Given the description of an element on the screen output the (x, y) to click on. 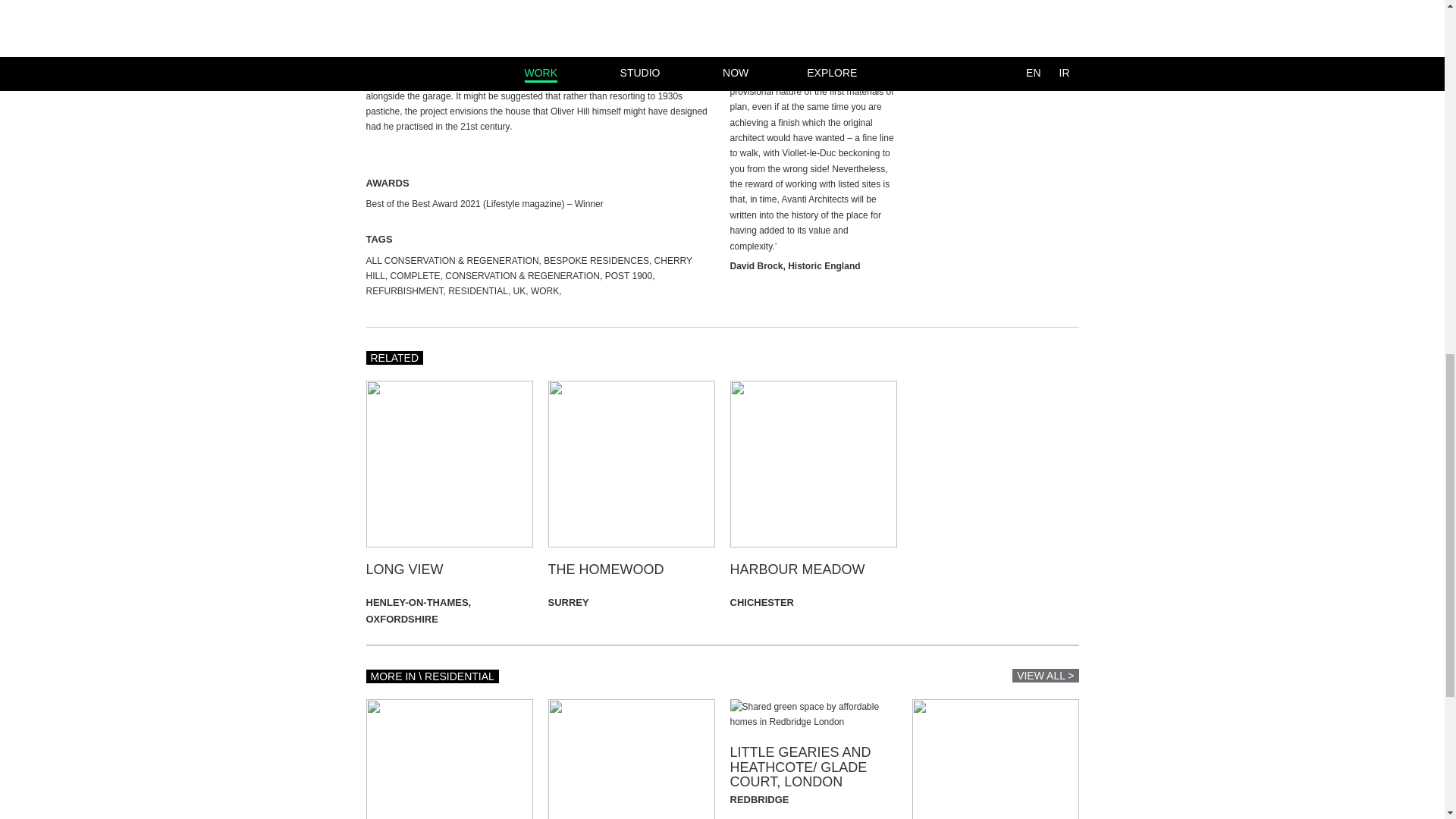
Complete (415, 276)
Cherry Hill (528, 268)
Refurbishment (403, 290)
Post 1900 (628, 276)
UK (519, 290)
Bespoke Residences (596, 260)
Residential (478, 290)
Work (545, 290)
